Given the description of an element on the screen output the (x, y) to click on. 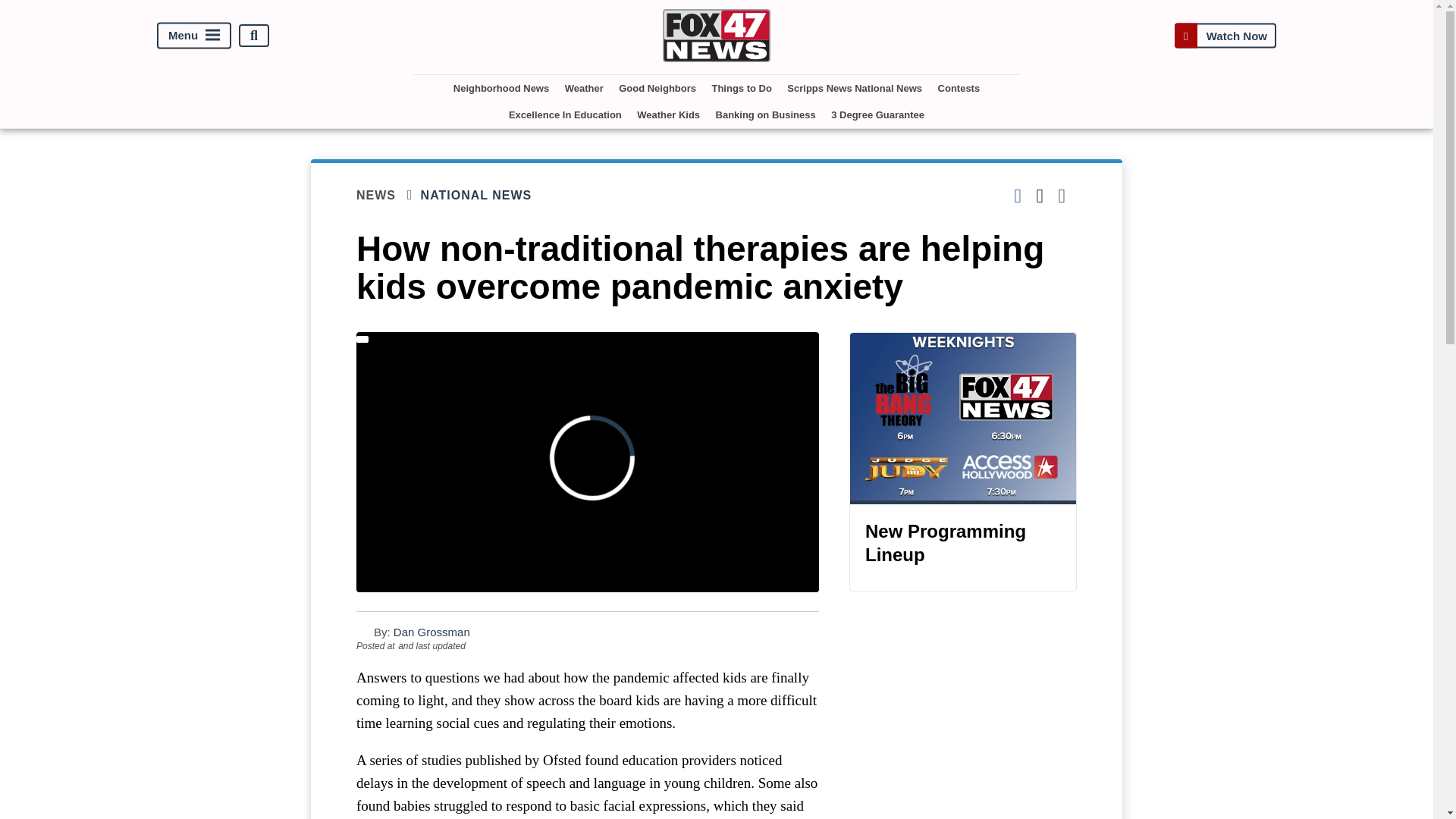
Menu (194, 35)
Watch Now (1224, 34)
